Given the description of an element on the screen output the (x, y) to click on. 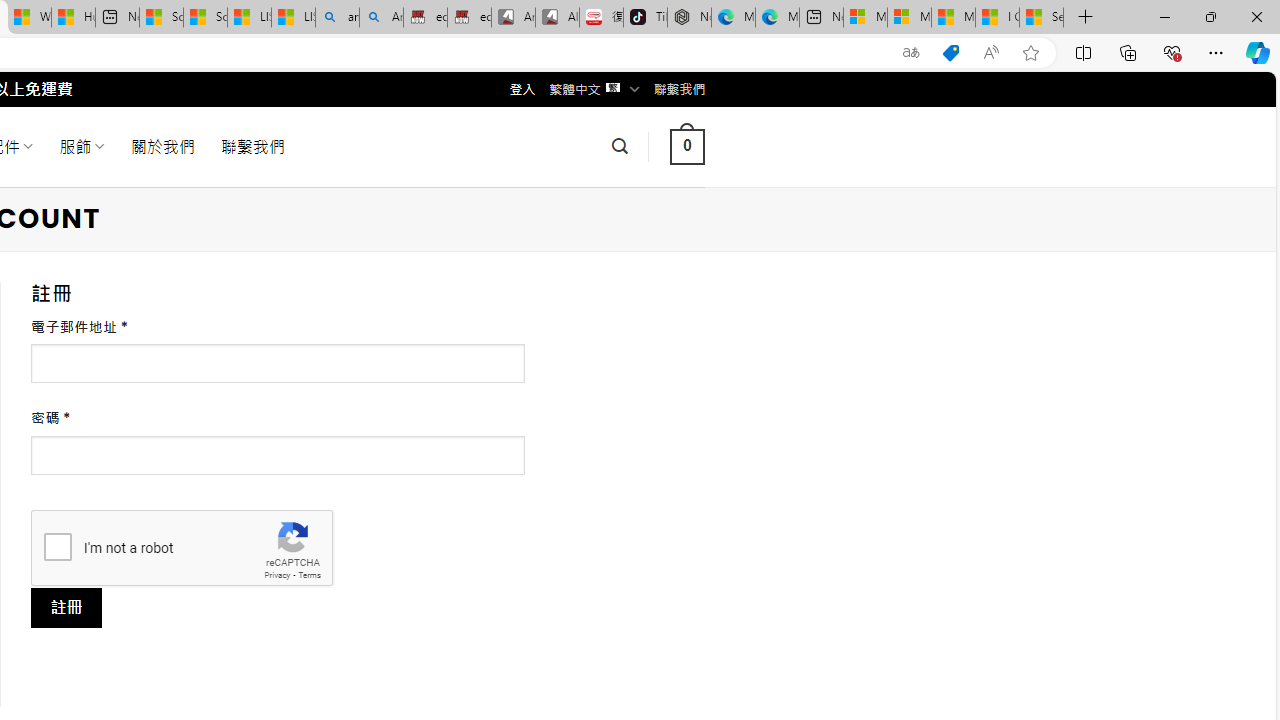
amazon - Search (337, 17)
This site has coupons! Shopping in Microsoft Edge (950, 53)
